Given the description of an element on the screen output the (x, y) to click on. 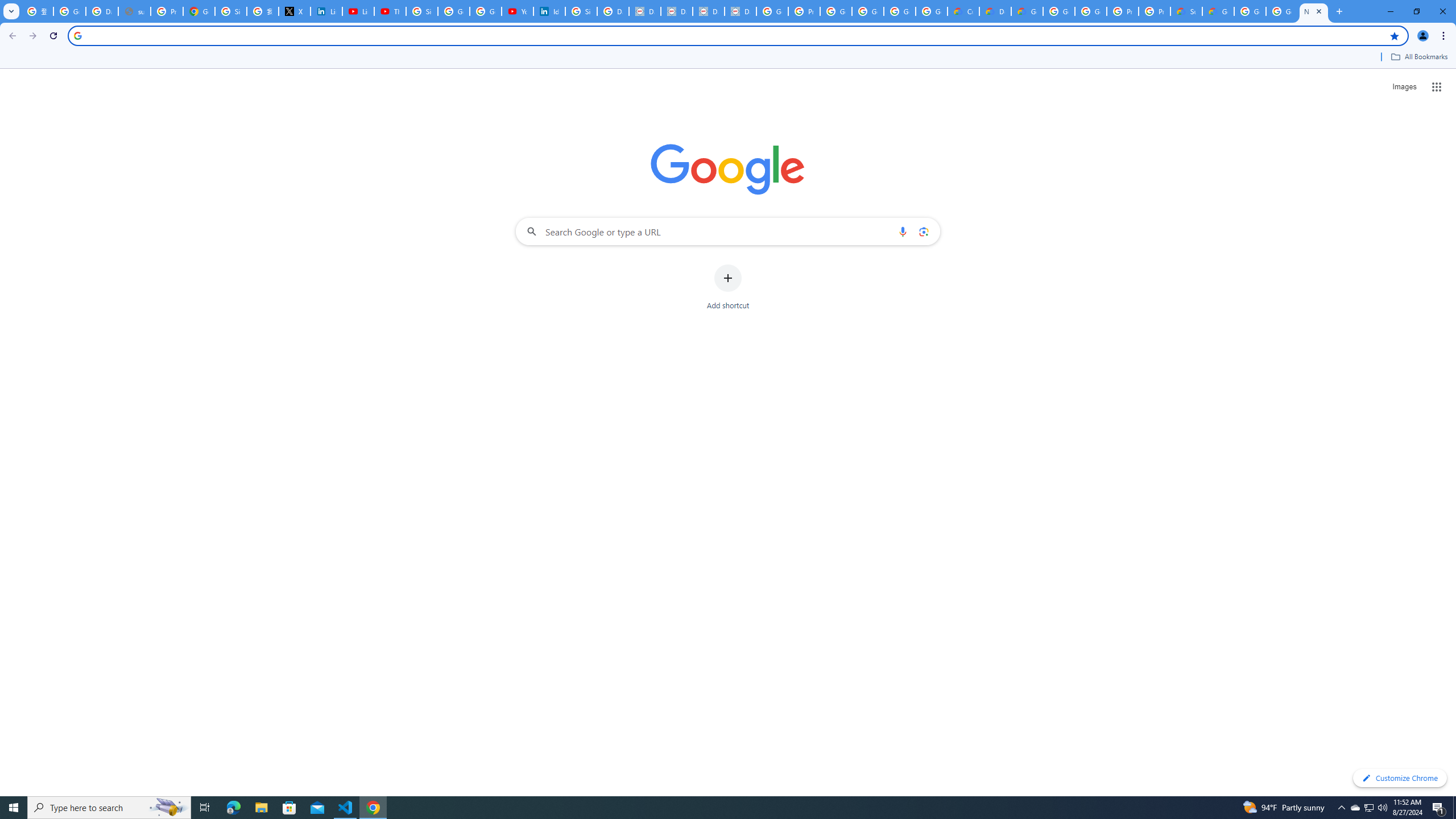
support.google.com - Network error (134, 11)
